Given the description of an element on the screen output the (x, y) to click on. 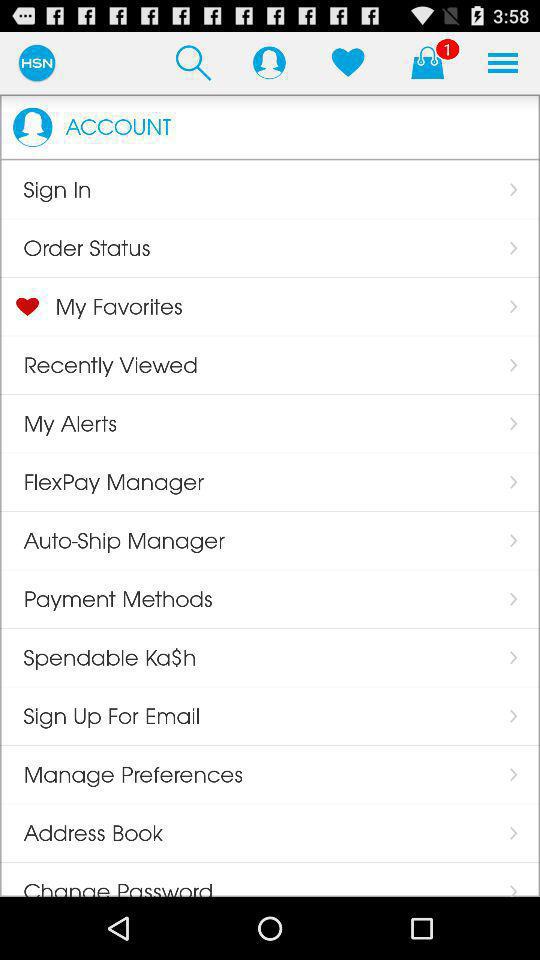
view favorites (348, 62)
